Given the description of an element on the screen output the (x, y) to click on. 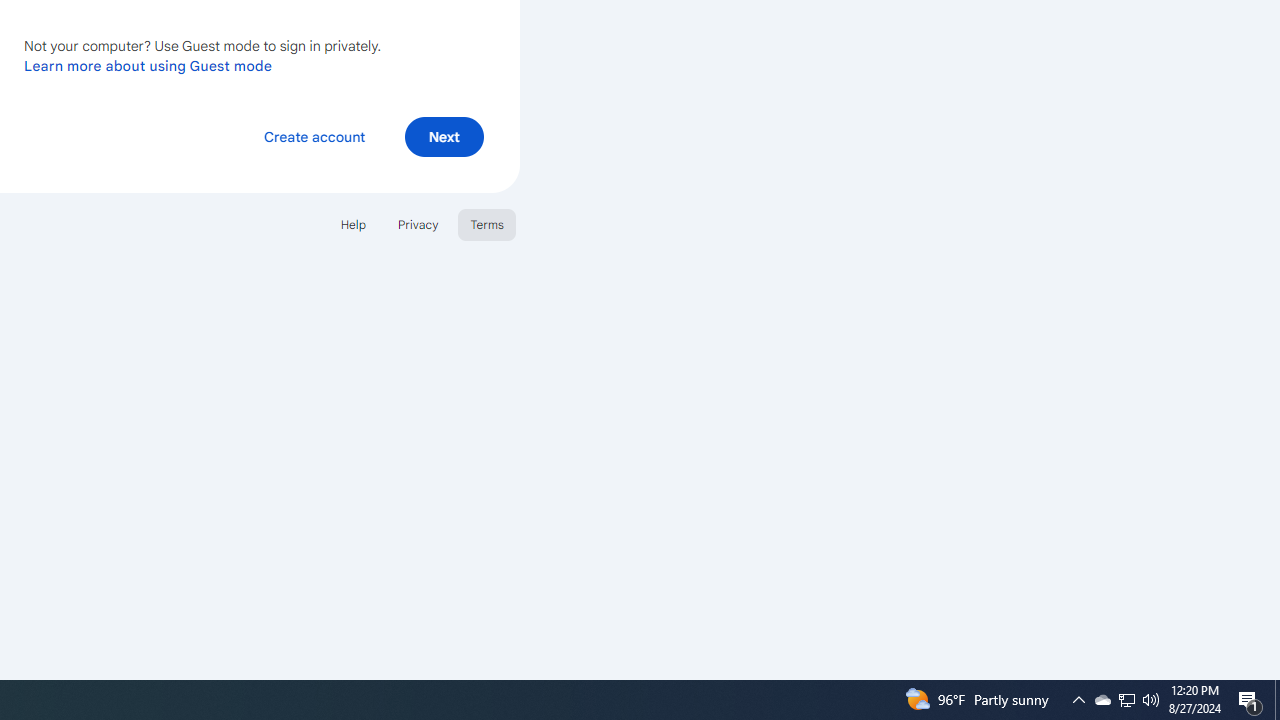
Create account (314, 135)
Learn more about using Guest mode (148, 65)
